Given the description of an element on the screen output the (x, y) to click on. 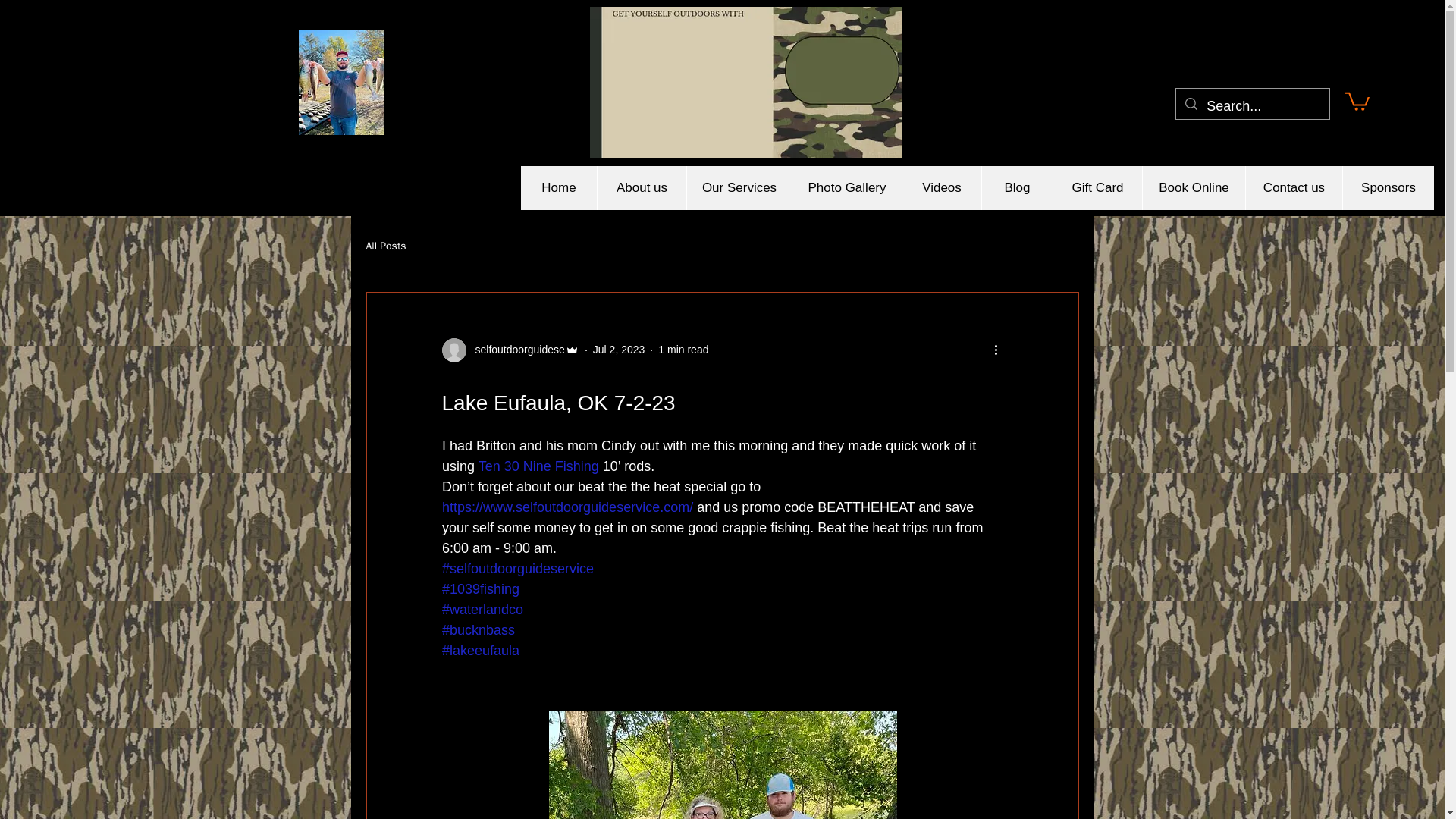
Sponsors (1388, 187)
About us (640, 187)
Jul 2, 2023 (618, 349)
Ten 30 Nine Fishing  (539, 466)
Photo Gallery (846, 187)
Book Online (1192, 187)
Blog (1016, 187)
Contact us (1293, 187)
Our Services (738, 187)
Gift Card (1096, 187)
All Posts (385, 246)
selfoutdoorguidese (514, 349)
Videos (941, 187)
selfoutdoorguidese (509, 350)
1 min read (682, 349)
